Given the description of an element on the screen output the (x, y) to click on. 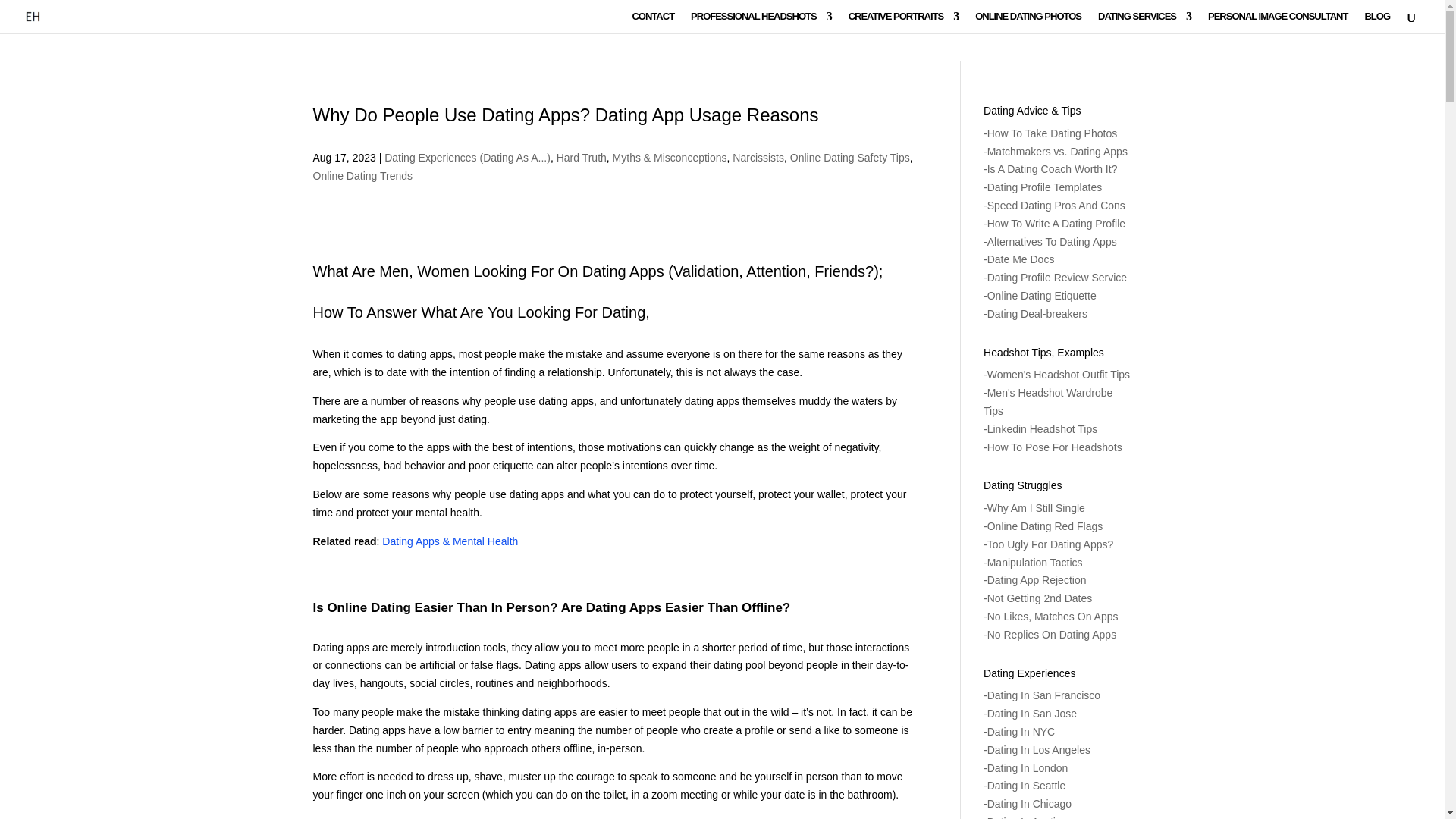
BLOG (1377, 22)
-Matchmakers vs. Dating Apps (1055, 151)
Hard Truth (581, 157)
DATING SERVICES (1144, 22)
PROFESSIONAL HEADSHOTS (760, 22)
ONLINE DATING PHOTOS (1028, 22)
CREATIVE PORTRAITS (903, 22)
-Is A Dating Coach Worth It? (1050, 168)
Harsh Reality Of Dating Apps (450, 818)
CONTACT (652, 22)
